Given the description of an element on the screen output the (x, y) to click on. 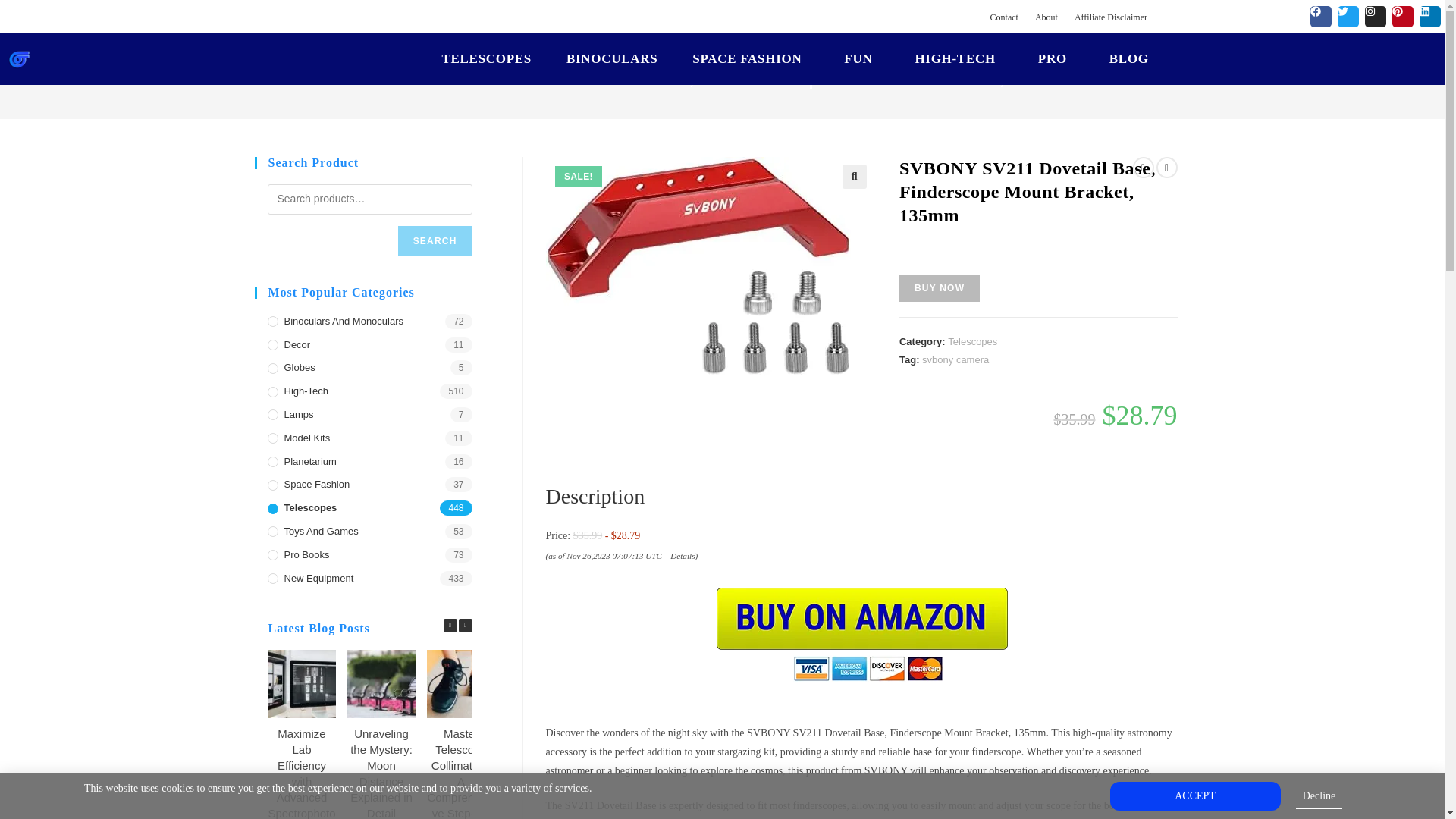
Next (464, 625)
About (1045, 17)
Affiliate Disclaimer (1110, 17)
Previous (449, 625)
BINOCULARS (321, 59)
SVBONY SV211 Dovetail Base, Finderscope Mount Bracket, 135mm (698, 266)
BuyOnAmazon (861, 632)
PRO (751, 59)
HIGH-TECH (657, 59)
FUN (563, 59)
